Given the description of an element on the screen output the (x, y) to click on. 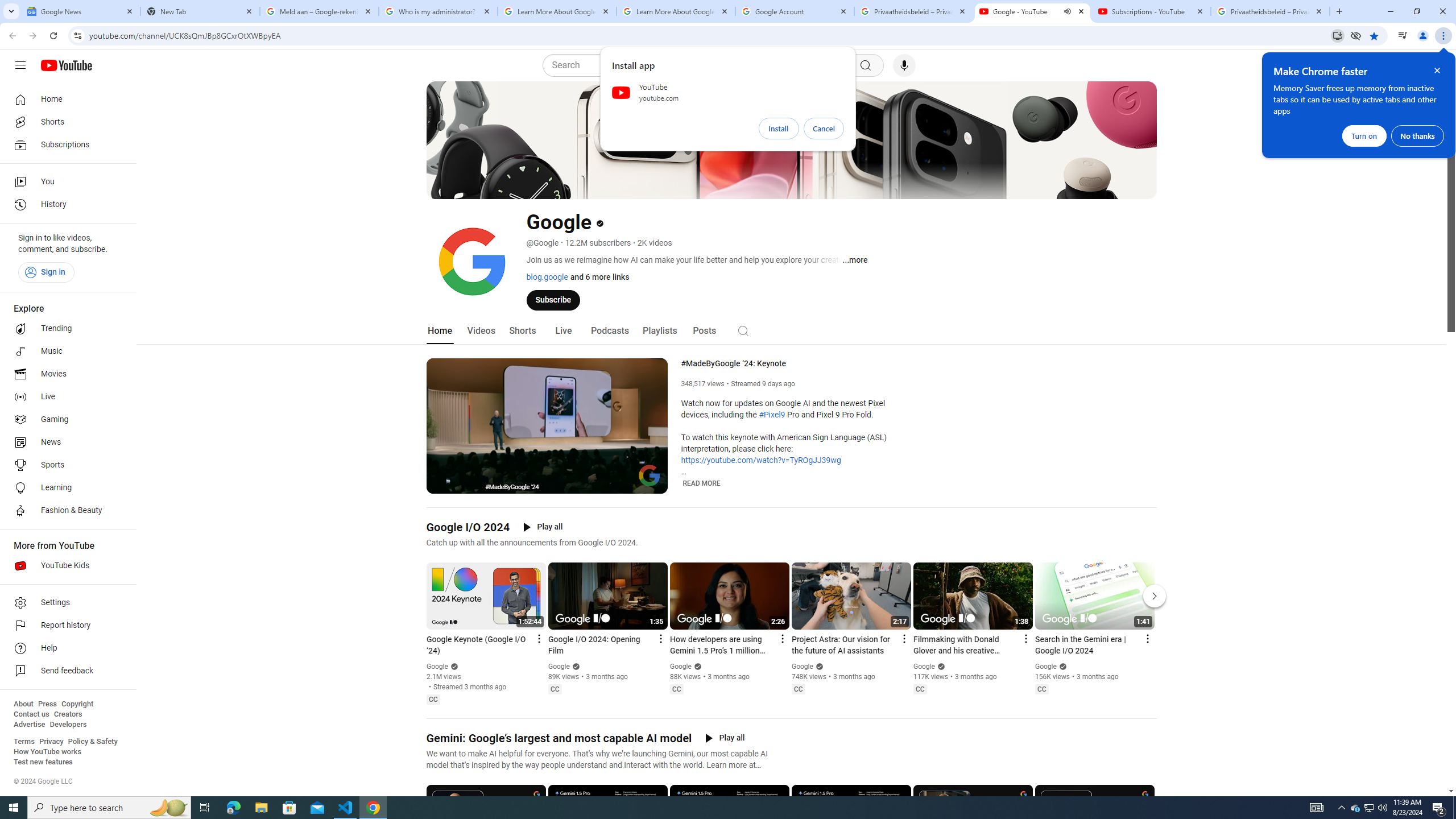
Action menu (1146, 638)
Live (64, 396)
Contact us (31, 714)
Google I/O 2024 (467, 526)
Mute tab (1066, 10)
Subscriptions - YouTube (1150, 11)
YouTube Home (66, 65)
Music (64, 350)
New Tab (199, 11)
Verified (1061, 665)
Advertise (29, 724)
Play all (724, 738)
